Given the description of an element on the screen output the (x, y) to click on. 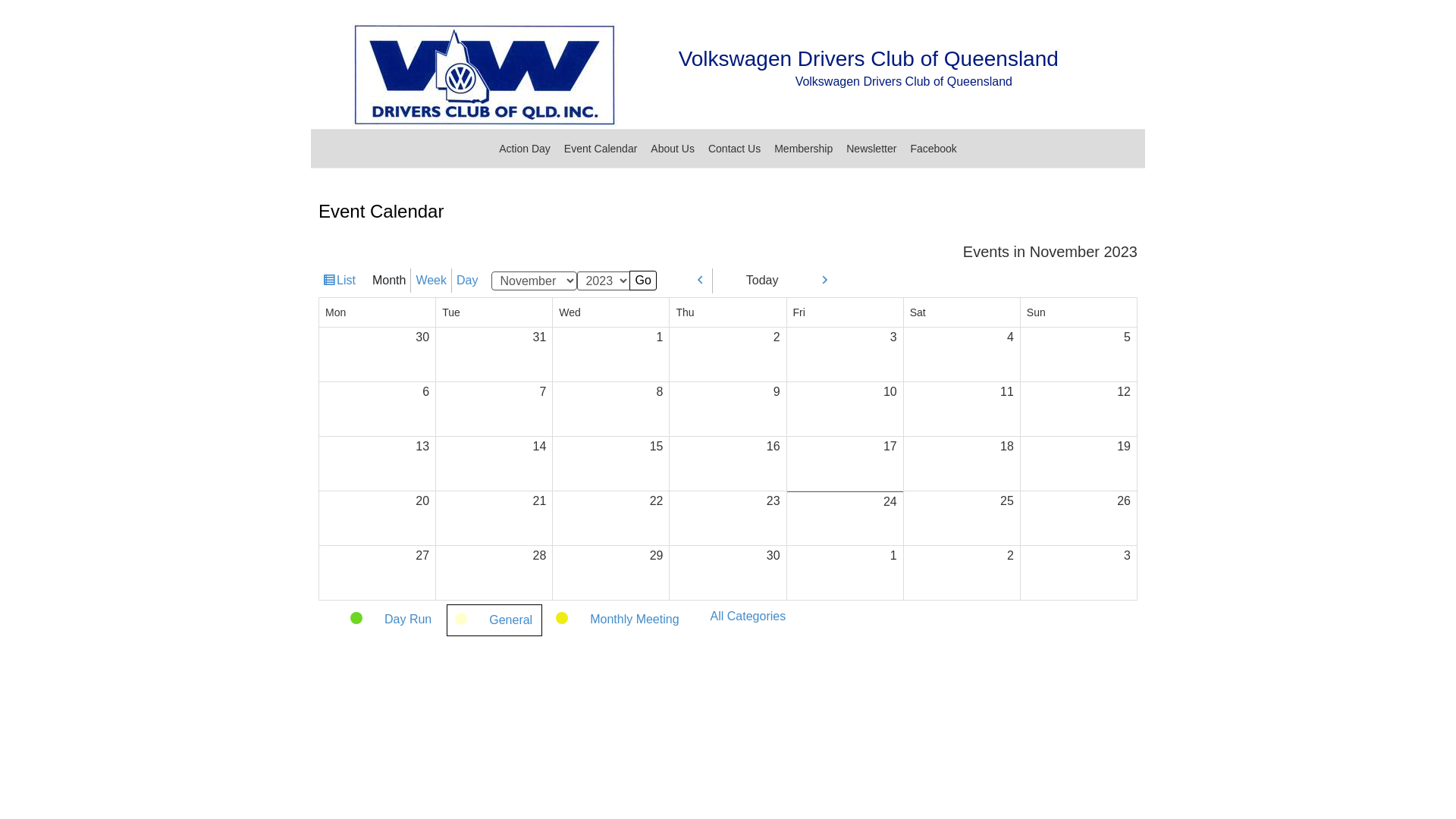
Week Element type: text (431, 280)
Volkswagen Drivers Club of Queensland Element type: text (868, 58)
Action Day Element type: text (524, 148)
  Day Run Element type: text (391, 619)
Go Element type: text (642, 280)
Contact Us Element type: text (734, 148)
Day Element type: text (466, 280)
  Monthly Meeting Element type: text (617, 619)
Previous Element type: text (694, 280)
Newsletter Element type: text (871, 148)
View as
List Element type: text (339, 280)
Membership Element type: text (803, 148)
Event Calendar Element type: text (600, 148)
All Categories Element type: text (742, 616)
Untitled Category Element type: text (327, 610)
About Us Element type: text (672, 148)
  General Element type: text (494, 620)
Facebook Element type: text (932, 148)
Next Element type: text (818, 280)
